Given the description of an element on the screen output the (x, y) to click on. 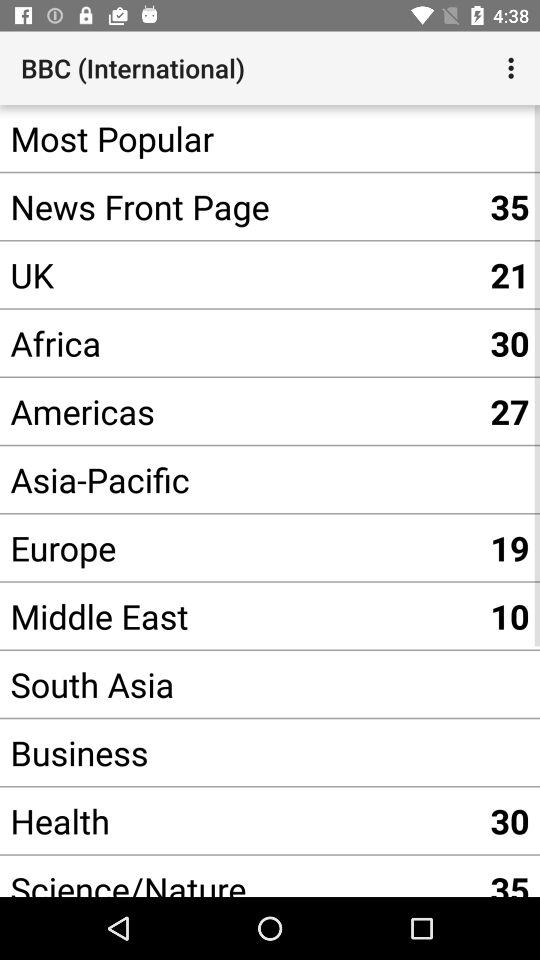
jump to science/nature (240, 875)
